Given the description of an element on the screen output the (x, y) to click on. 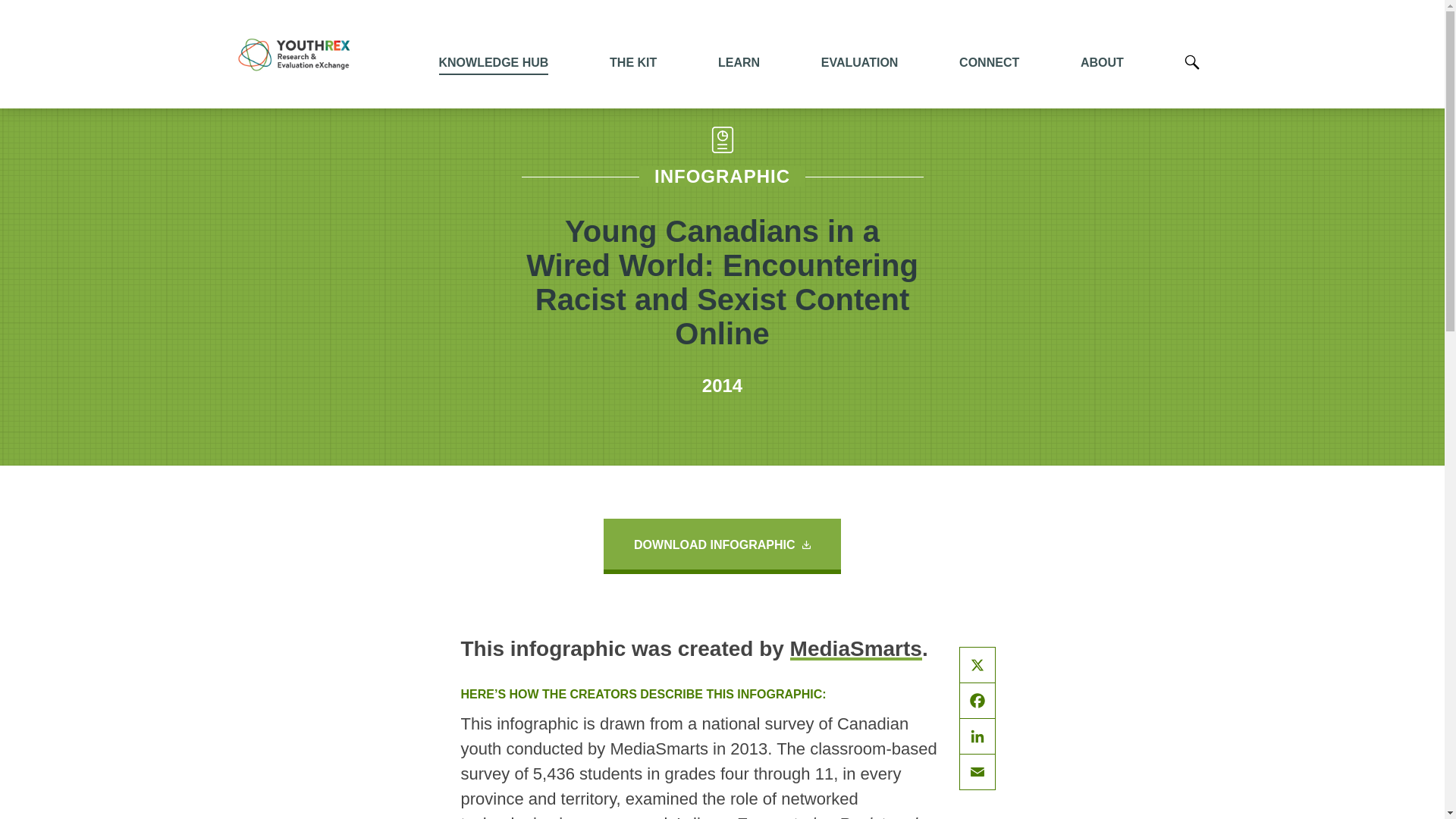
KNOWLEDGE HUB (493, 62)
Email (976, 771)
X (976, 665)
Facebook (976, 701)
LinkedIn (976, 736)
